Given the description of an element on the screen output the (x, y) to click on. 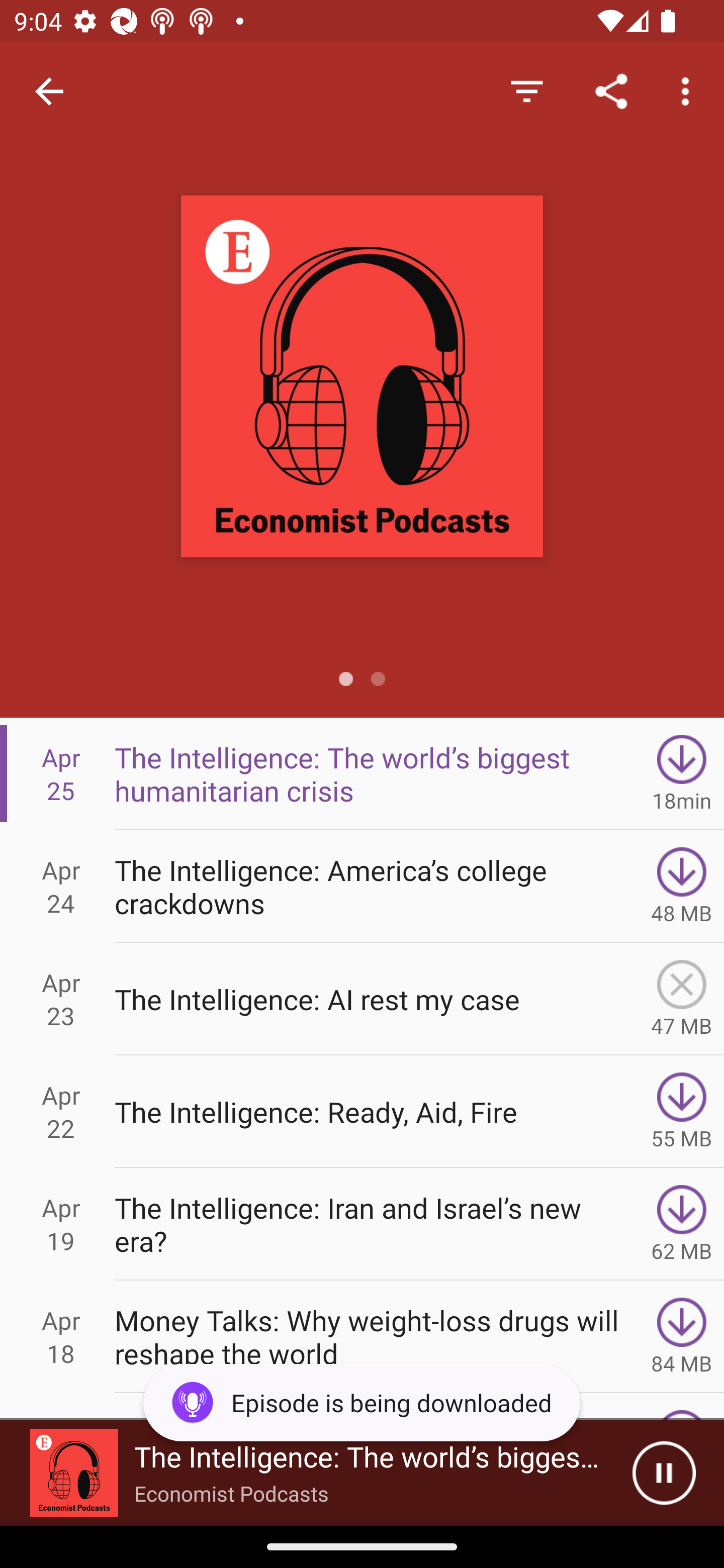
Navigate up (49, 91)
Hide Episodes (526, 90)
Share Link (611, 90)
More options (688, 90)
Download 18min (681, 773)
Download 48 MB (681, 885)
Cancel
Download 47 MB (681, 998)
Download 55 MB (681, 1111)
Download 62 MB (681, 1224)
Download 84 MB (681, 1336)
Pause (663, 1472)
